Given the description of an element on the screen output the (x, y) to click on. 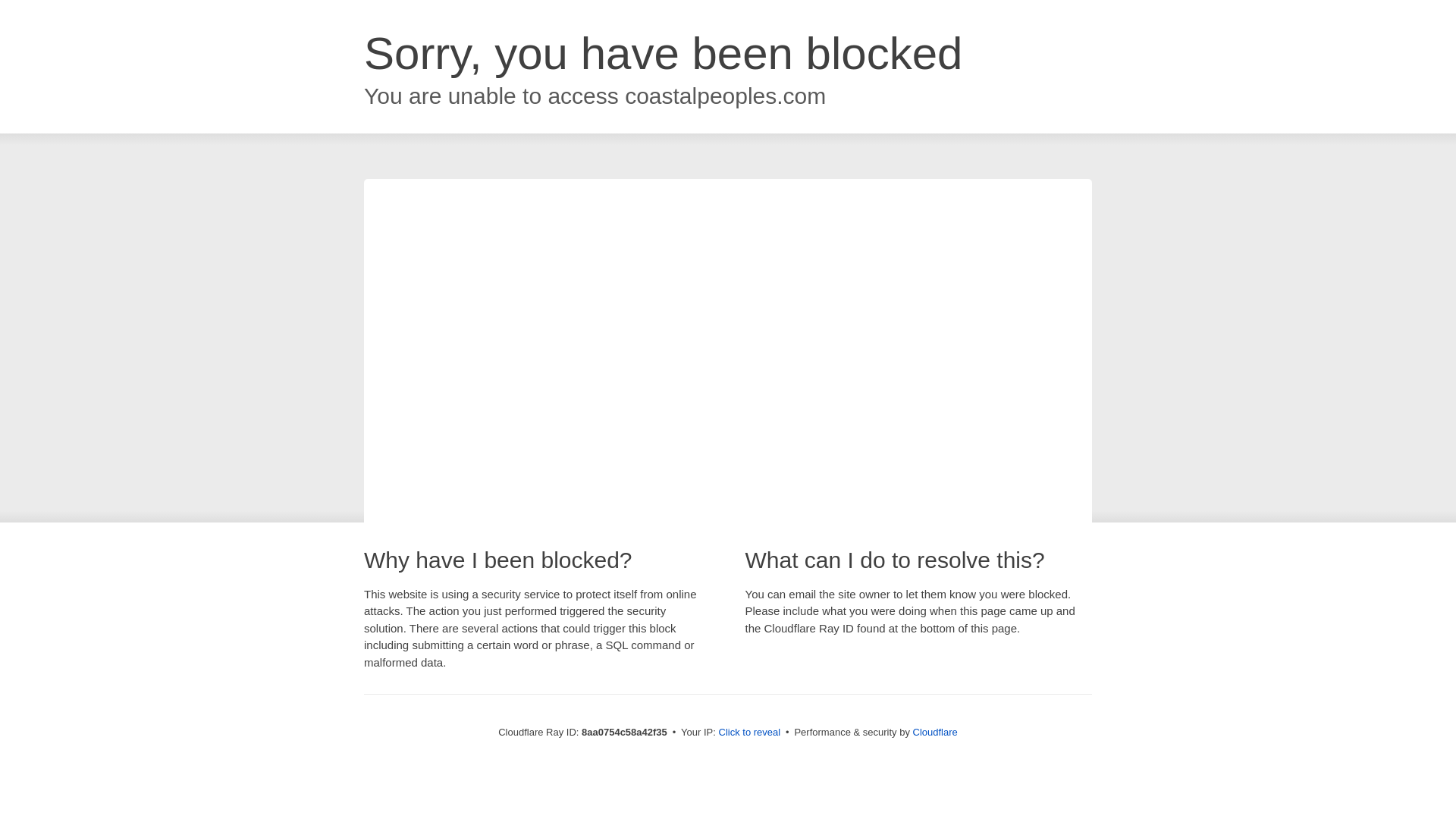
Click to reveal (749, 732)
Cloudflare (935, 731)
